Given the description of an element on the screen output the (x, y) to click on. 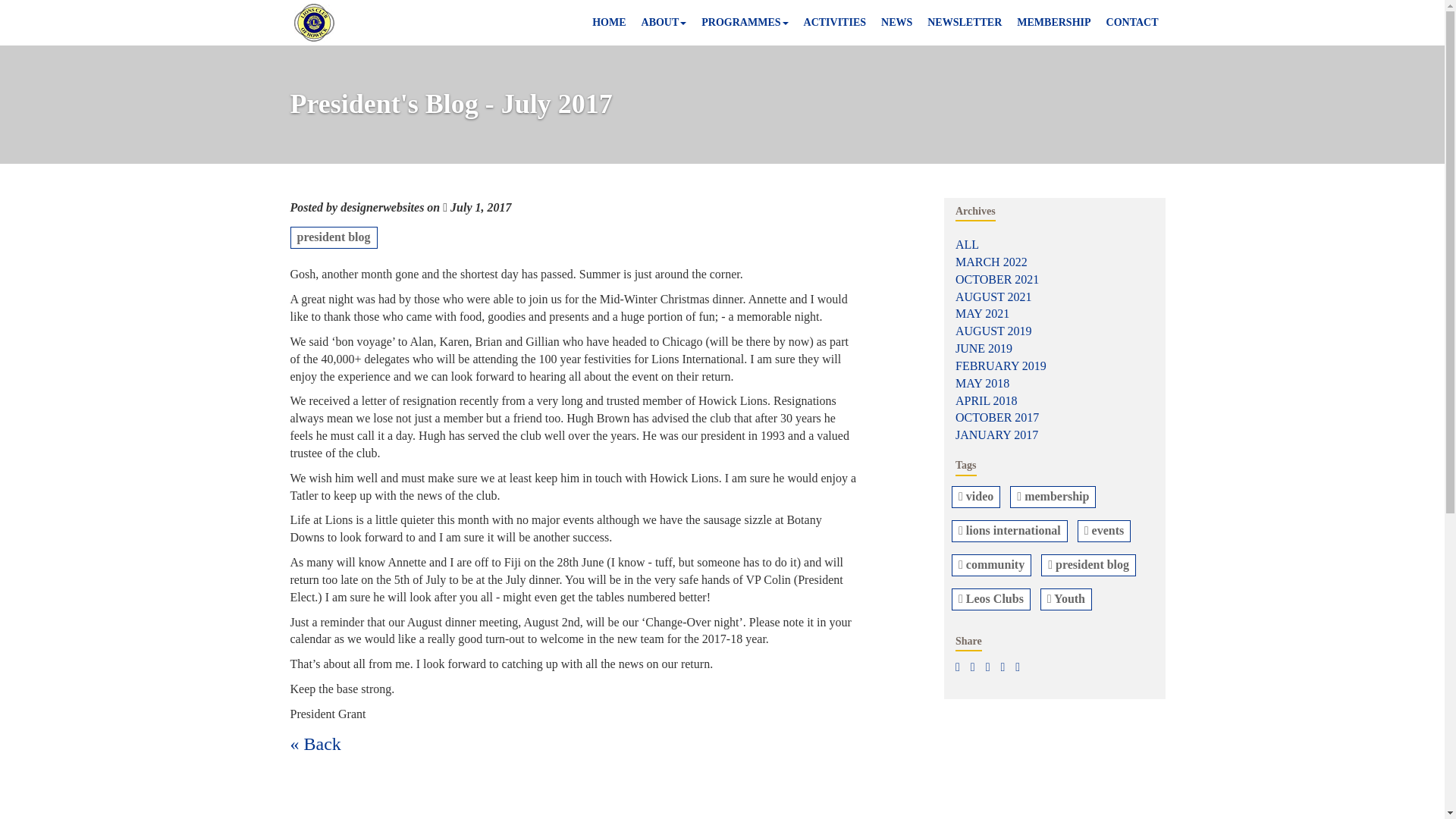
OCTOBER 2017 (997, 417)
JUNE 2019 (983, 348)
NEWS (896, 22)
AUGUST 2019 (993, 330)
CONTACT (1132, 22)
 lions international (1011, 529)
OCTOBER 2021 (997, 278)
PROGRAMMES (744, 22)
president blog (335, 236)
AUGUST 2021 (993, 296)
HOME (609, 22)
MAY 2021 (982, 313)
APRIL 2018 (986, 400)
MEMBERSHIP (1053, 22)
ALL (966, 244)
